Given the description of an element on the screen output the (x, y) to click on. 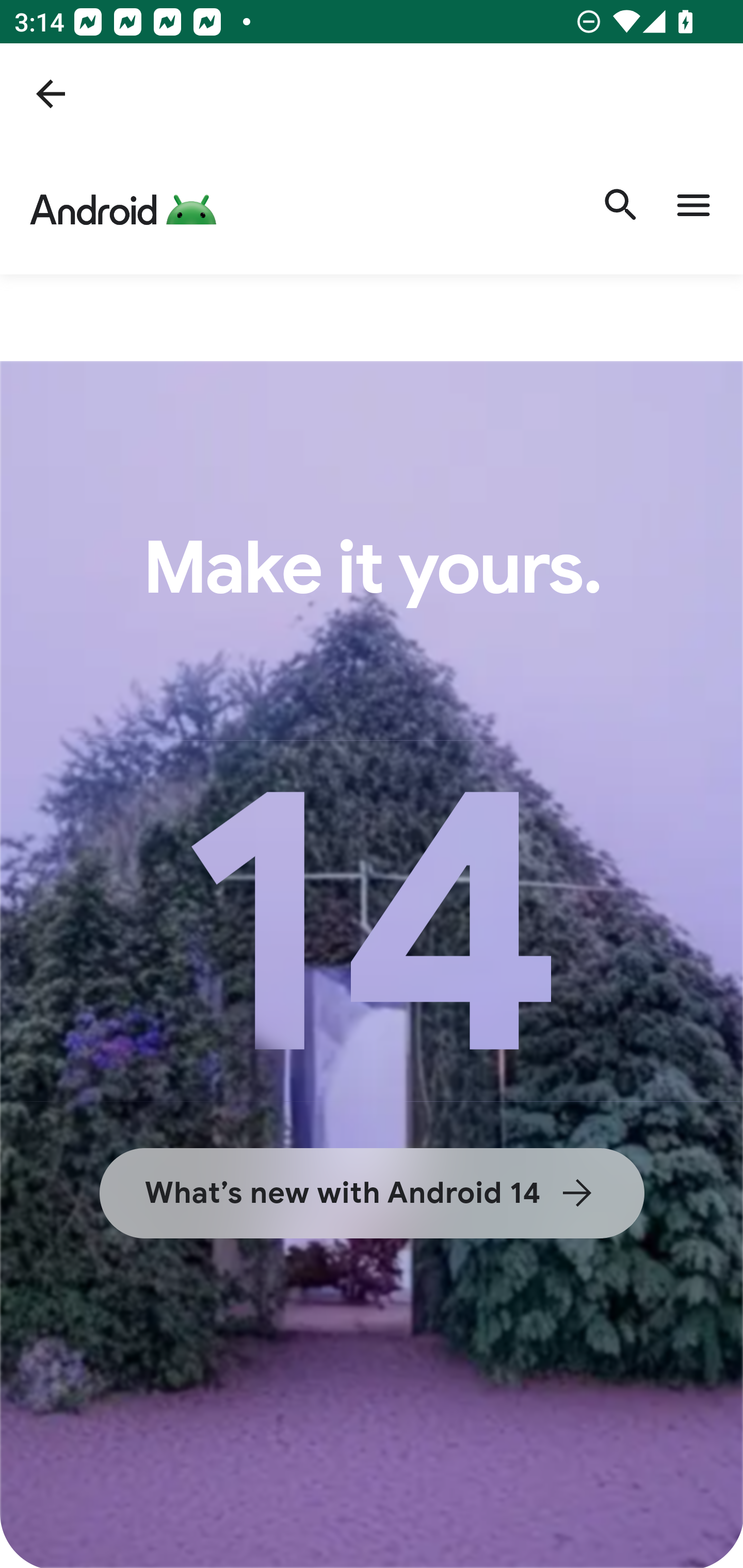
Navigate up (50, 93)
www.android (128, 209)
Search (621, 208)
show navigation (693, 208)
